Given the description of an element on the screen output the (x, y) to click on. 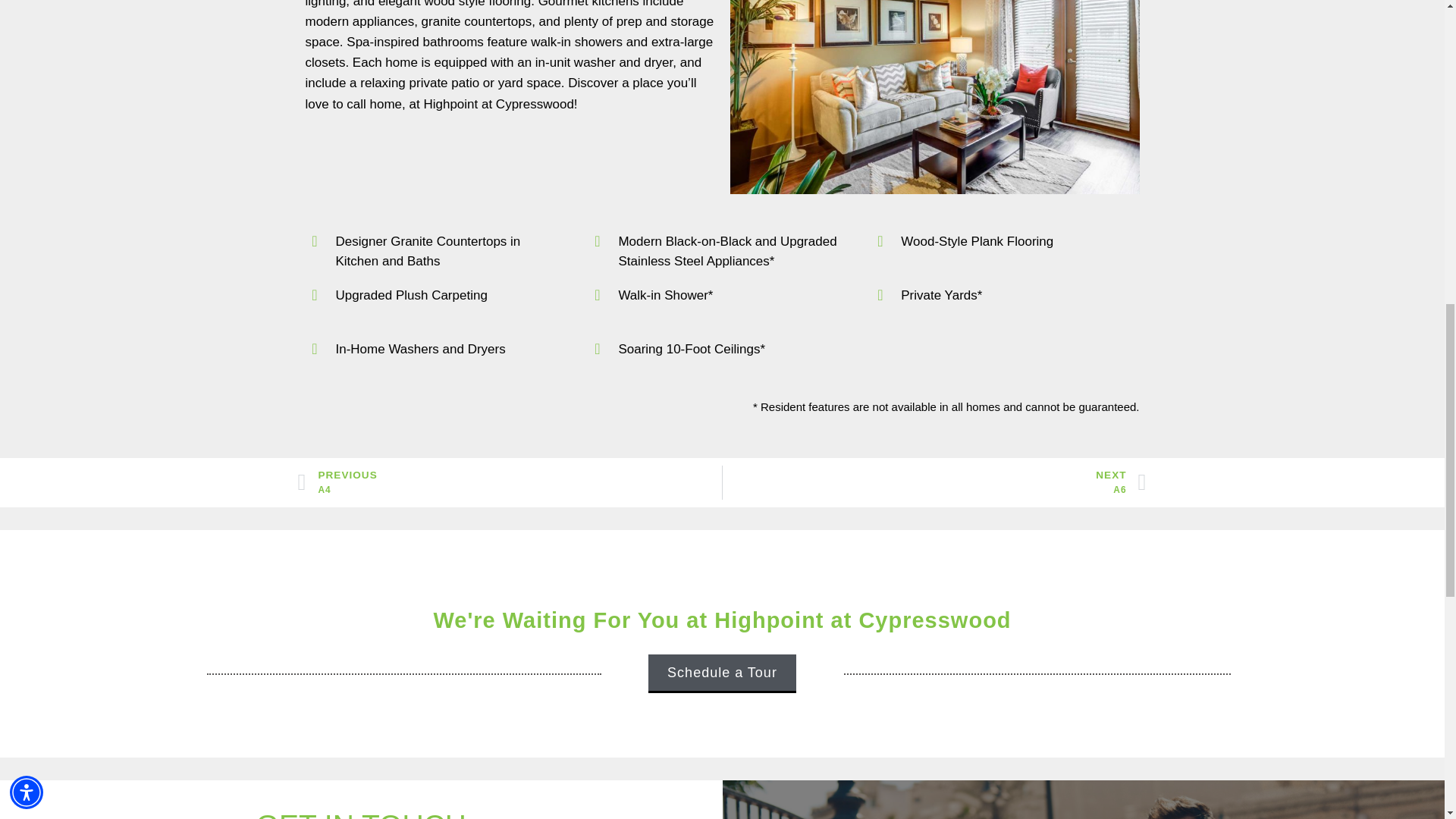
Schedule a Tour (721, 673)
